Given the description of an element on the screen output the (x, y) to click on. 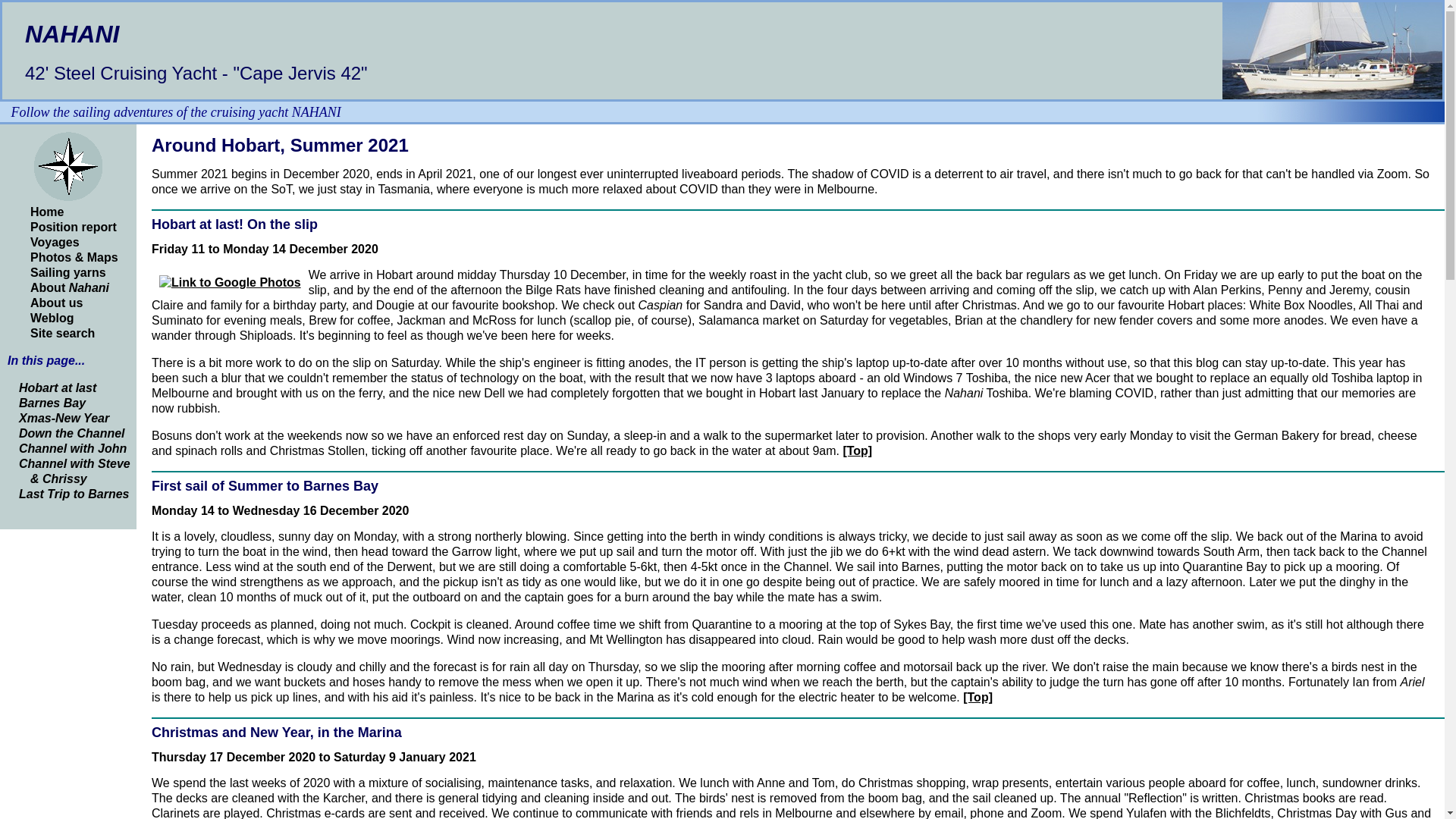
Channel with John Element type: text (72, 448)
Channel with Steve & Chrissy Element type: text (74, 471)
[Top] Element type: text (857, 450)
Photos & Maps Element type: text (74, 257)
Home Element type: text (46, 211)
Last Trip to Barnes Element type: text (73, 493)
About us Element type: text (56, 302)
Down the Channel Element type: text (71, 432)
Hobart at last Element type: text (57, 387)
Weblog Element type: text (51, 317)
[Top] Element type: text (977, 696)
Site search Element type: text (62, 332)
Position report Element type: text (73, 226)
Barnes Bay Element type: text (51, 402)
Voyages Element type: text (54, 241)
Xmas-New Year Element type: text (63, 417)
Sailing yarns Element type: text (68, 272)
About Nahani Element type: text (69, 287)
